Given the description of an element on the screen output the (x, y) to click on. 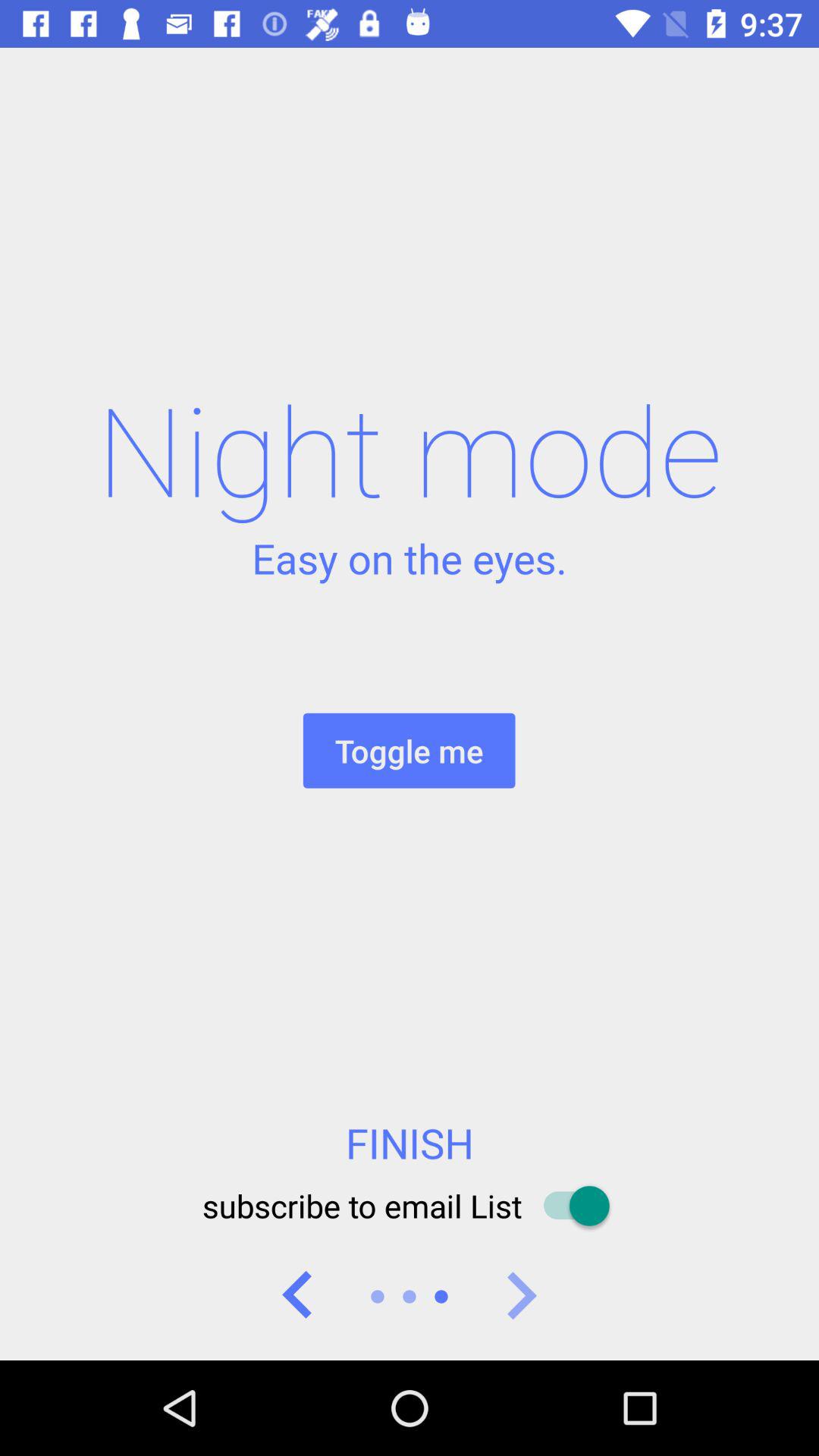
choose the icon below the finish icon (409, 1206)
